Given the description of an element on the screen output the (x, y) to click on. 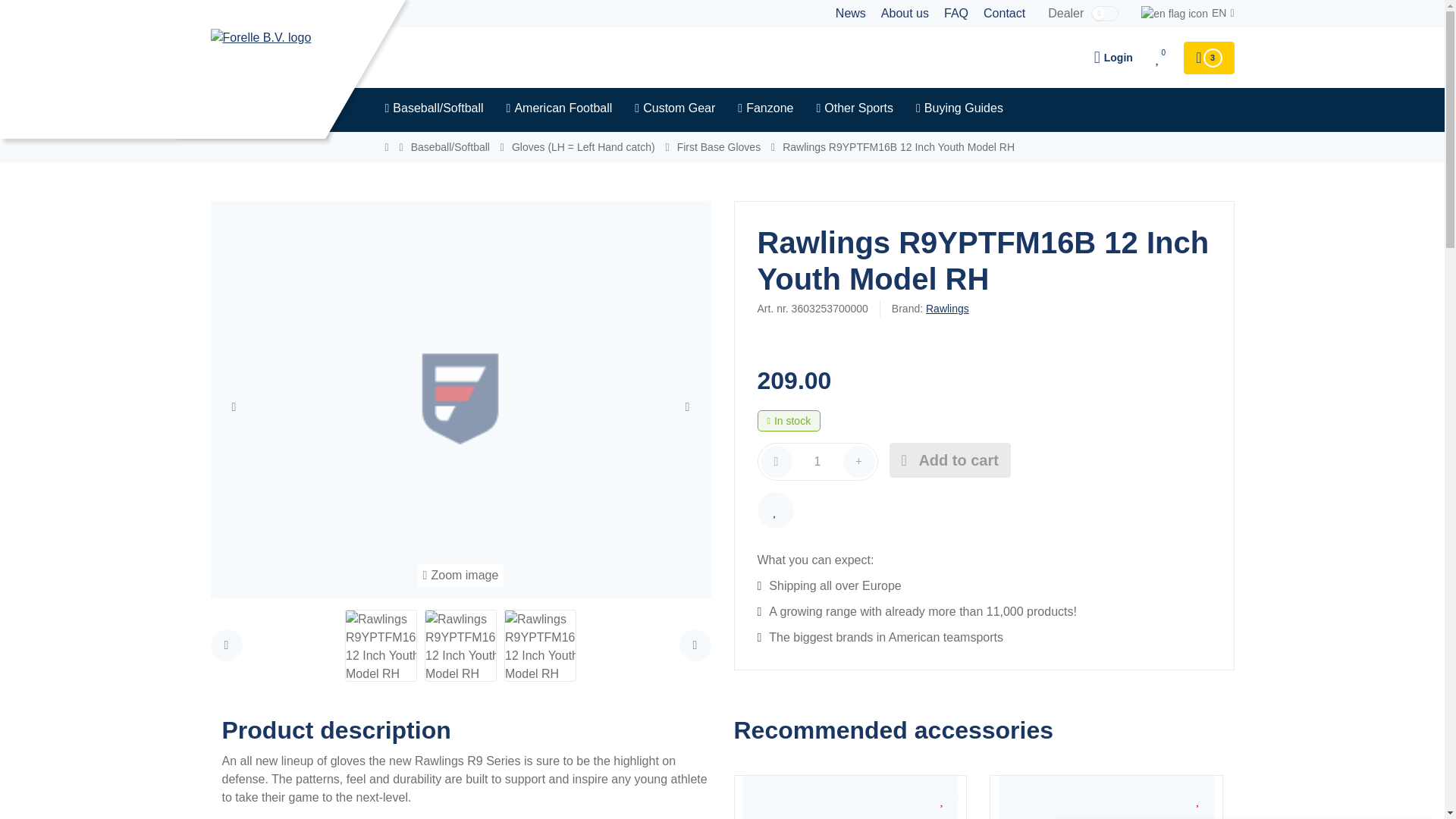
Contact (1004, 13)
American Football (559, 109)
1 (817, 461)
3 (1208, 57)
About us (904, 13)
Login (1113, 57)
EN (1187, 13)
News (850, 13)
FAQ (955, 13)
